Given the description of an element on the screen output the (x, y) to click on. 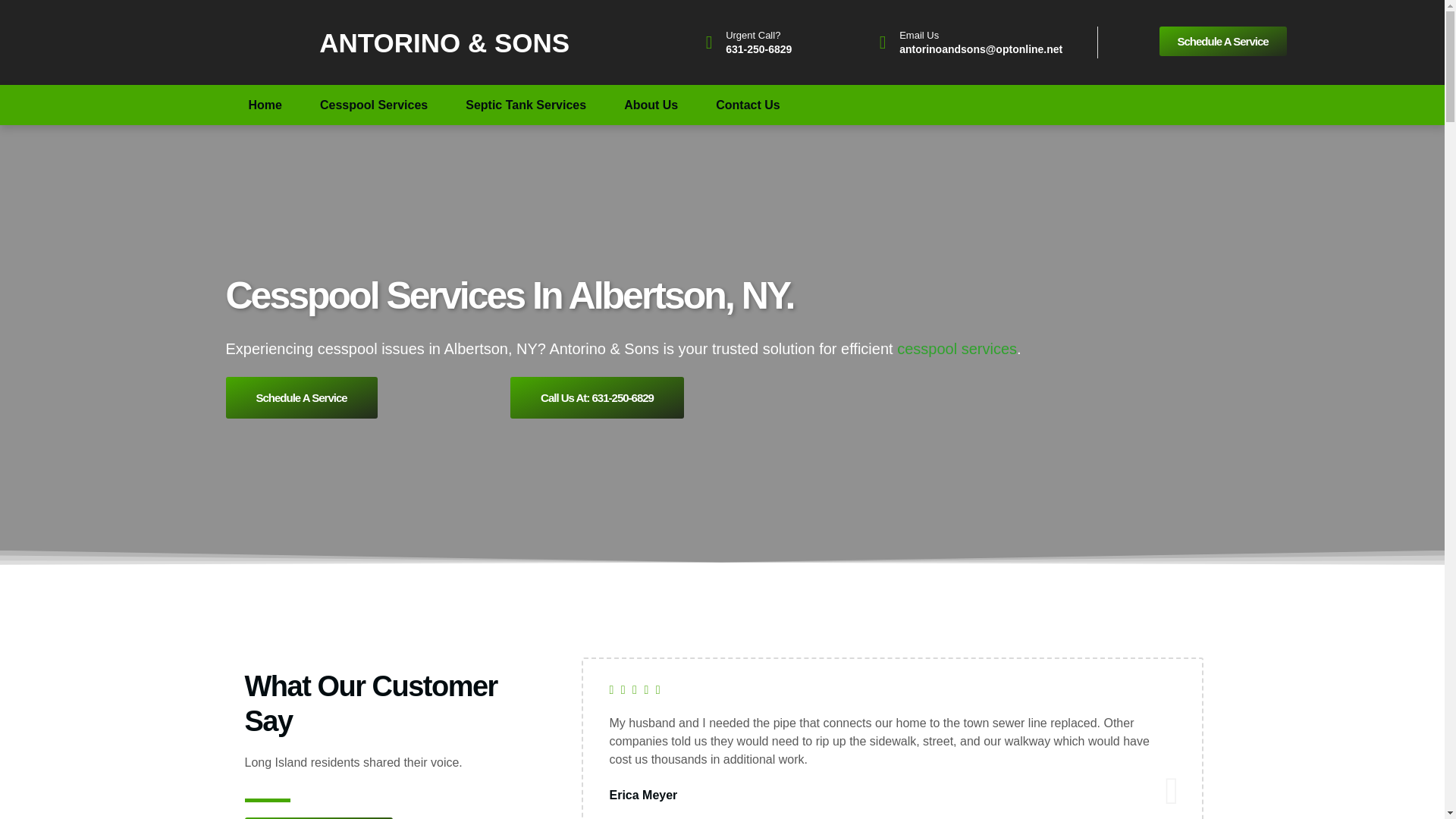
Schedule A Service (301, 397)
Email Us (919, 34)
About Us (651, 105)
Services (956, 348)
Urgent Call? (752, 34)
Cesspool Services (374, 105)
Contact Us (747, 105)
cesspool services (956, 348)
Septic Tank Services (525, 105)
Schedule A Service (1222, 41)
